Given the description of an element on the screen output the (x, y) to click on. 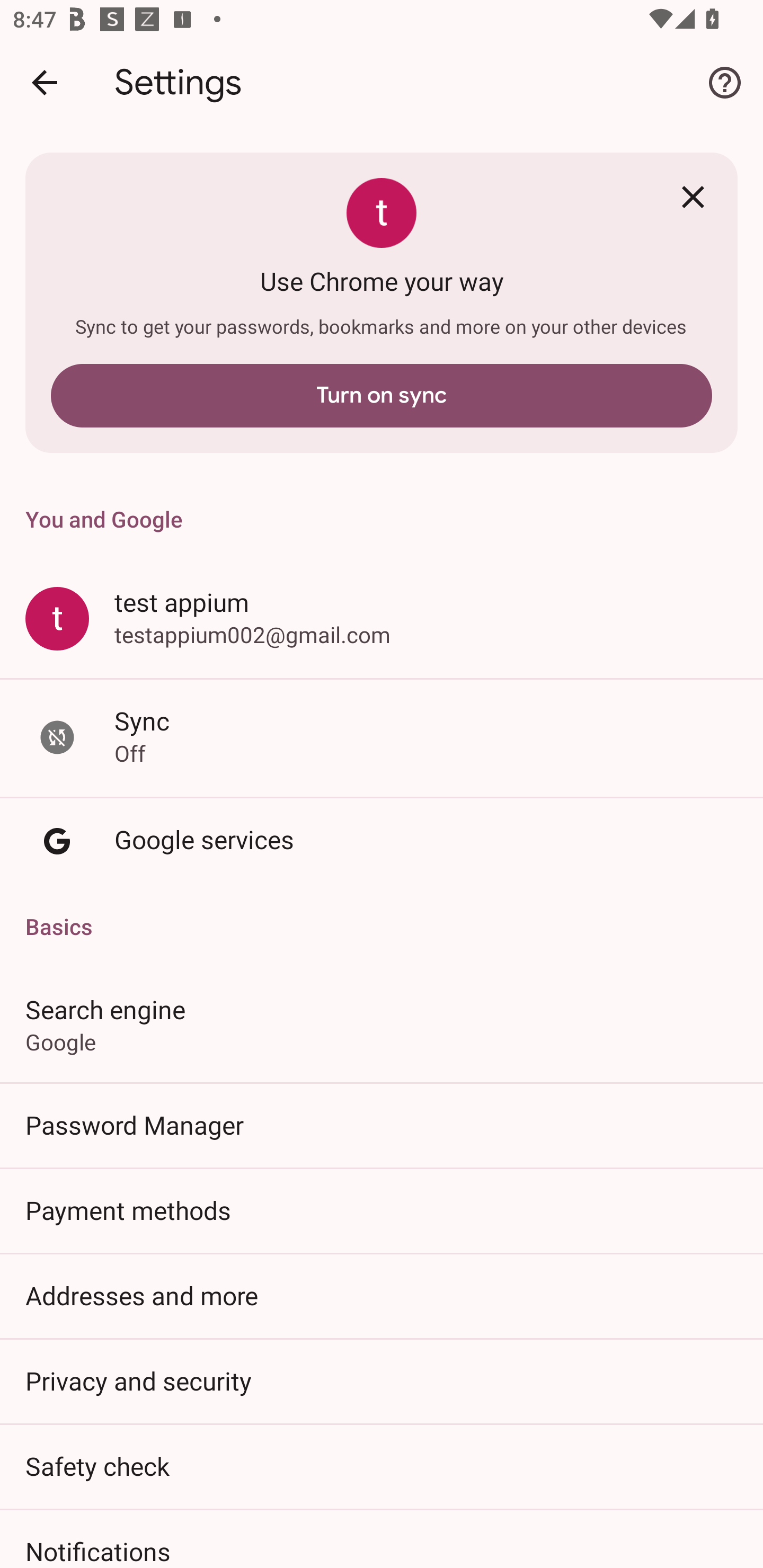
Navigate up (44, 82)
Help & feedback (724, 81)
Close (692, 196)
Turn on sync (381, 395)
test appium testappium002@gmail.com (381, 618)
Sync Off (381, 736)
Google services (381, 840)
Search engine Google (381, 1024)
Password Manager (381, 1124)
Payment methods (381, 1210)
Addresses and more (381, 1294)
Privacy and security (381, 1380)
Safety check (381, 1465)
Notifications (381, 1538)
